Given the description of an element on the screen output the (x, y) to click on. 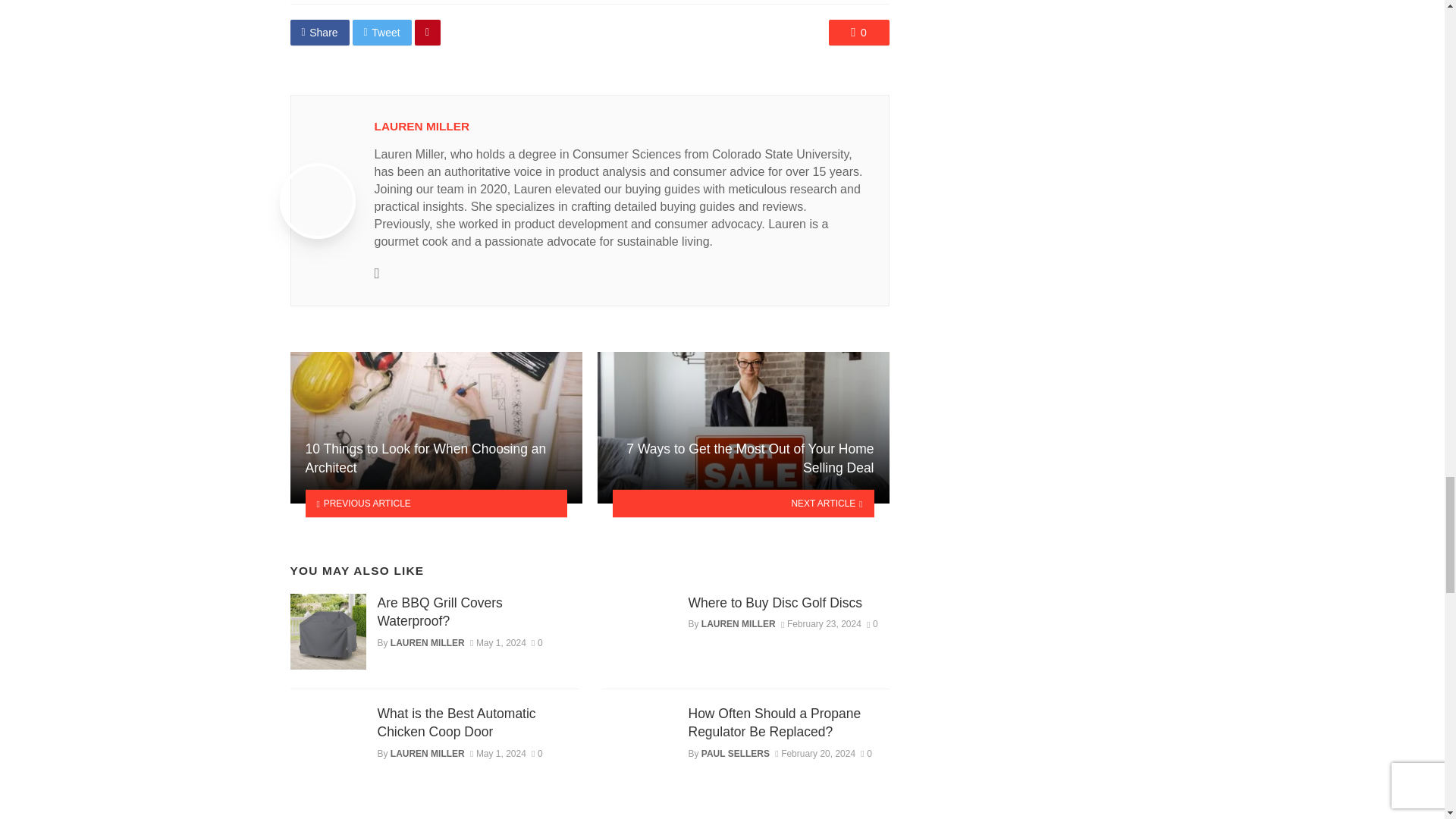
May 1, 2024 at 7:09 am (497, 643)
Posts by Lauren Miller (422, 125)
